Given the description of an element on the screen output the (x, y) to click on. 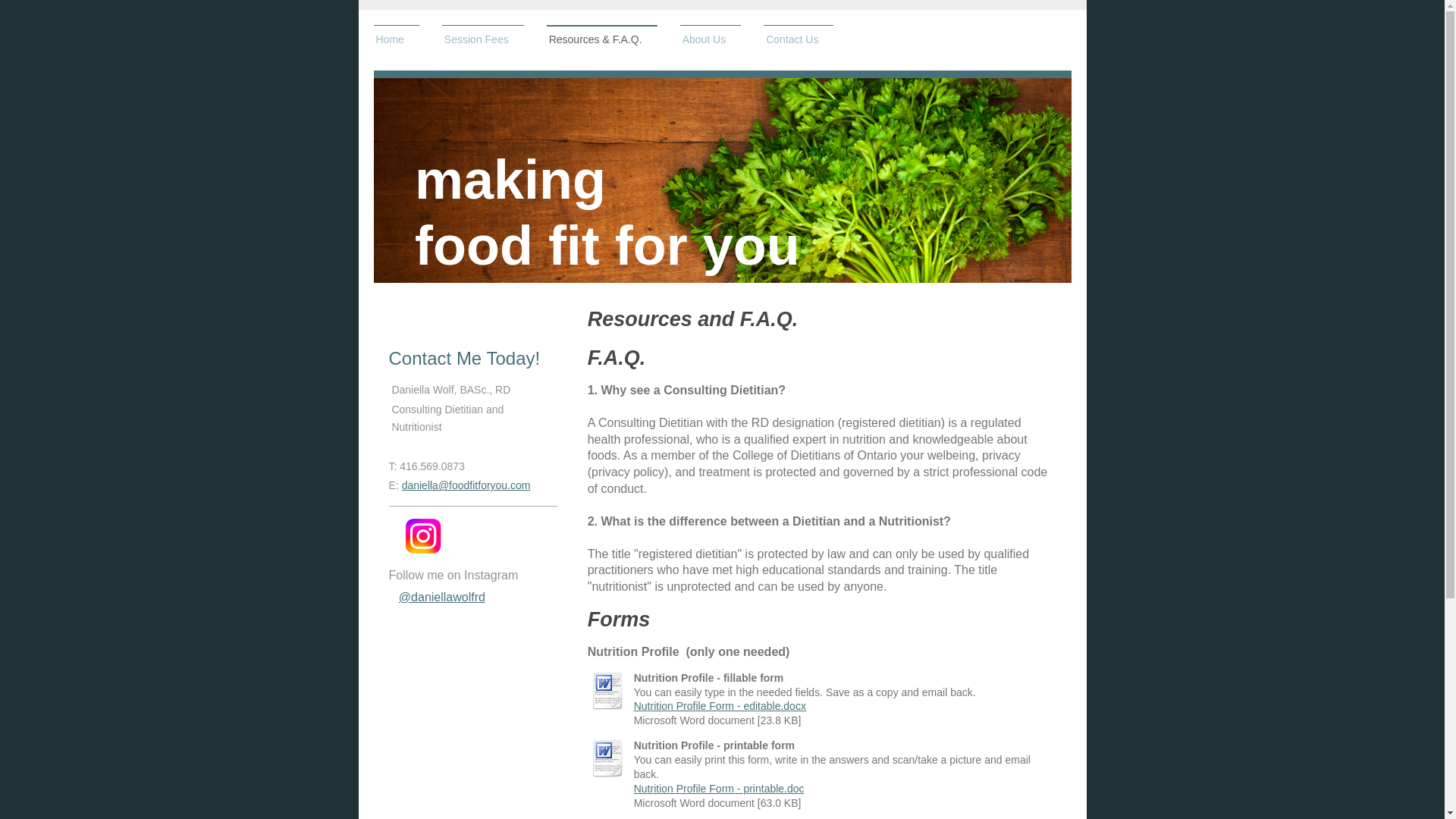
Nutrition Profile Form - editable.docx (719, 705)
About Us (710, 40)
makingfood fit for you (606, 212)
Contact Us (797, 40)
Home (395, 40)
Session Fees (483, 40)
Nutrition Profile Form - printable.doc (719, 788)
